Given the description of an element on the screen output the (x, y) to click on. 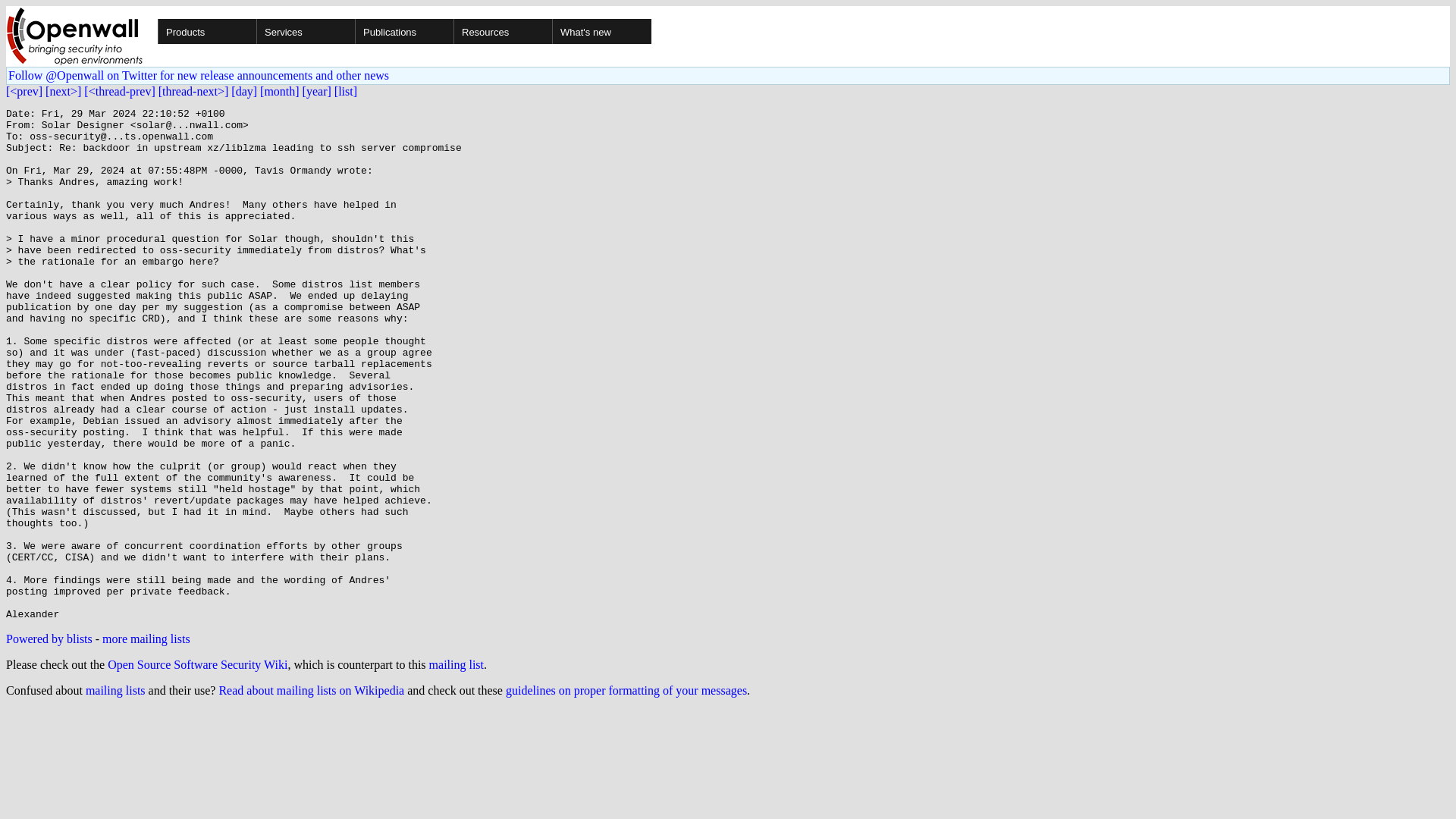
Resources (549, 31)
What's new (600, 31)
Services (352, 31)
Products (254, 31)
Publications (451, 31)
